Given the description of an element on the screen output the (x, y) to click on. 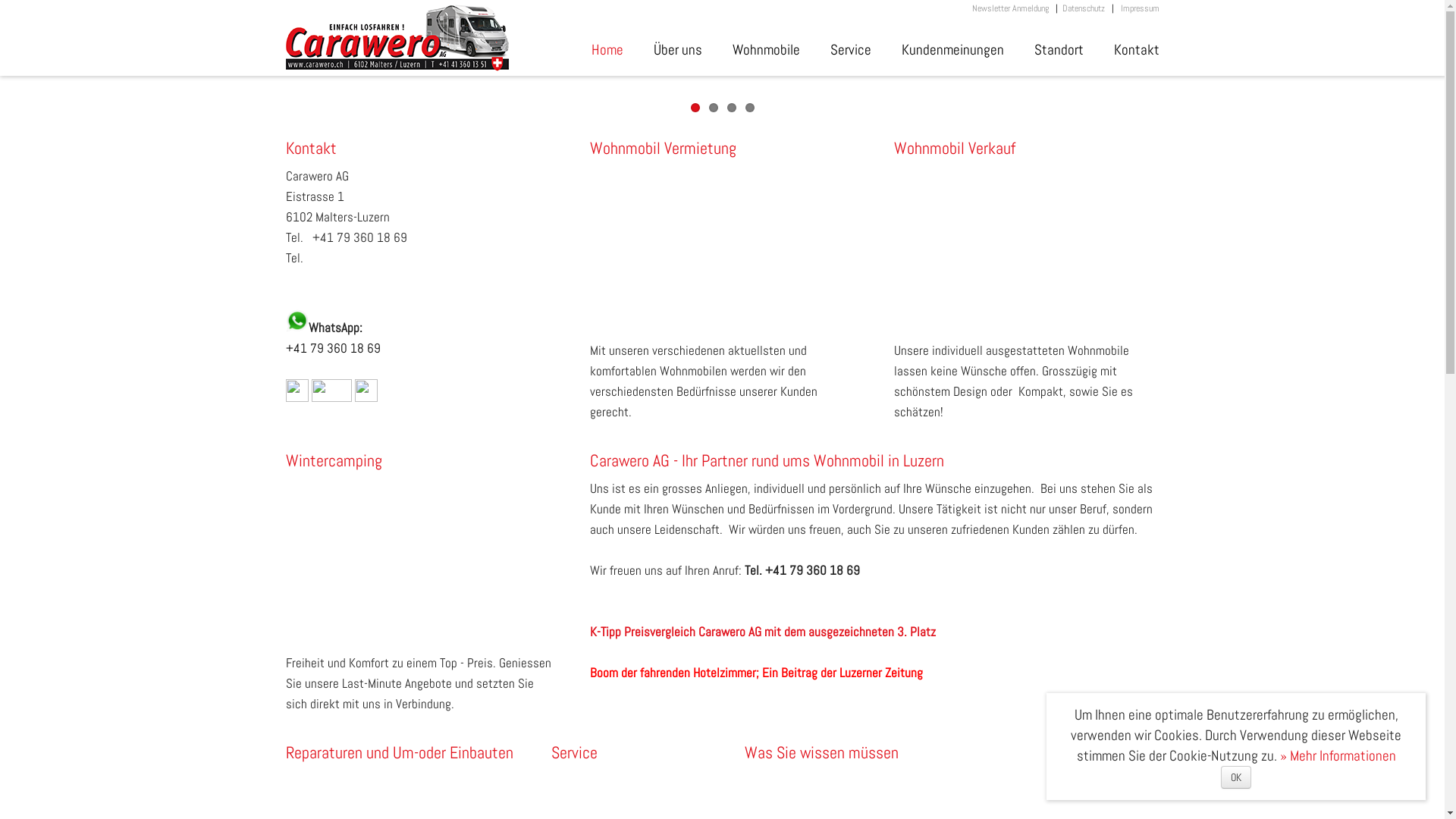
Reparaturen und Um-oder Einbauten Element type: text (417, 752)
Wohnmobil Verkauf Element type: text (1025, 148)
Wintercamping Element type: text (417, 460)
1 Element type: text (694, 107)
Home Element type: text (607, 57)
Service Element type: text (646, 752)
Datenschutz Element type: text (1082, 8)
Kundenmeinungen Element type: text (951, 57)
Newsletter Anmeldung Element type: text (1010, 8)
3 Element type: text (730, 107)
Wohnmobile Element type: text (766, 57)
Carawero AG - Ihr Partner rund ums Wohnmobil in Luzern Element type: text (874, 460)
Kontakt Element type: text (1135, 57)
OK Element type: text (1235, 776)
4 Element type: text (748, 107)
Impressum Element type: text (1139, 8)
Kontakt Element type: text (417, 148)
Service Element type: text (849, 57)
Standort Element type: text (1058, 57)
Wohnmobil Vermietung Element type: text (722, 148)
2 Element type: text (712, 107)
